Given the description of an element on the screen output the (x, y) to click on. 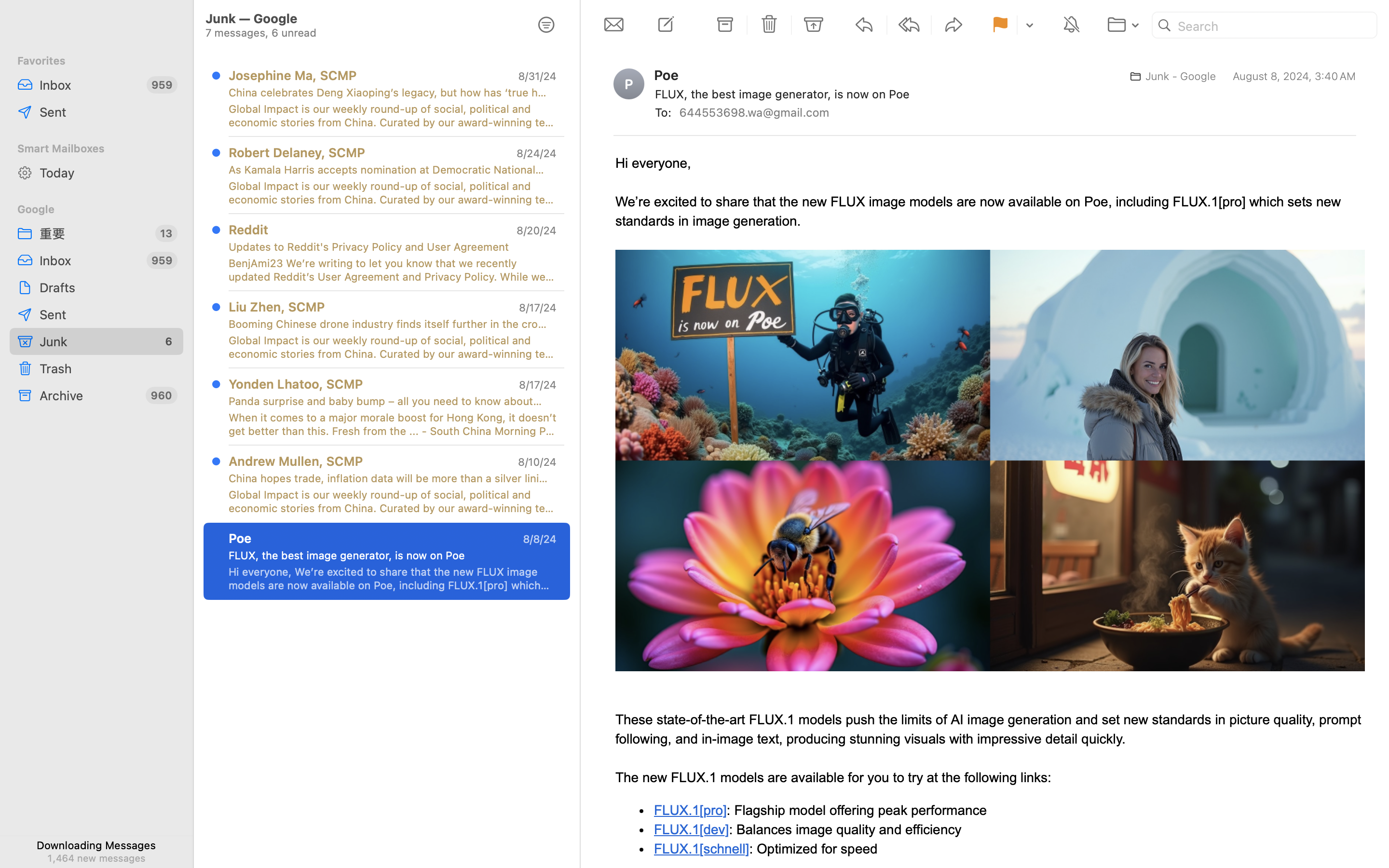
Junk Element type: AXStaticText (95, 341)
China hopes trade, inflation data will be more than a silver lining as stock market crash sends reminder of external headwinds Element type: AXStaticText (388, 478)
: Balances image quality and efficiency Element type: AXStaticText (844, 829)
Google Element type: AXStaticText (96, 209)
FLUX.1[schnell] Element type: AXStaticText (701, 848)
